Given the description of an element on the screen output the (x, y) to click on. 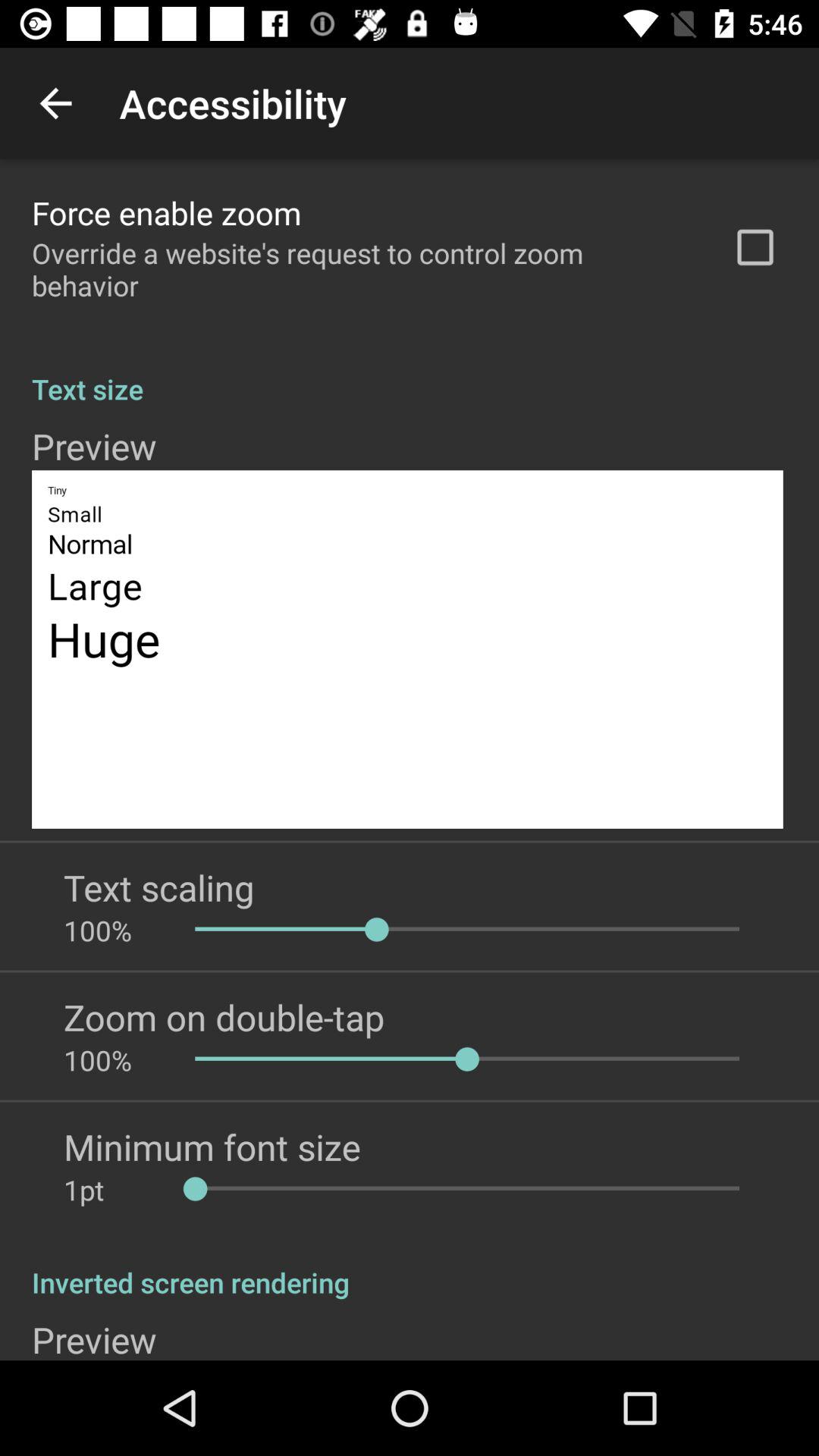
click icon above the text size app (361, 269)
